Given the description of an element on the screen output the (x, y) to click on. 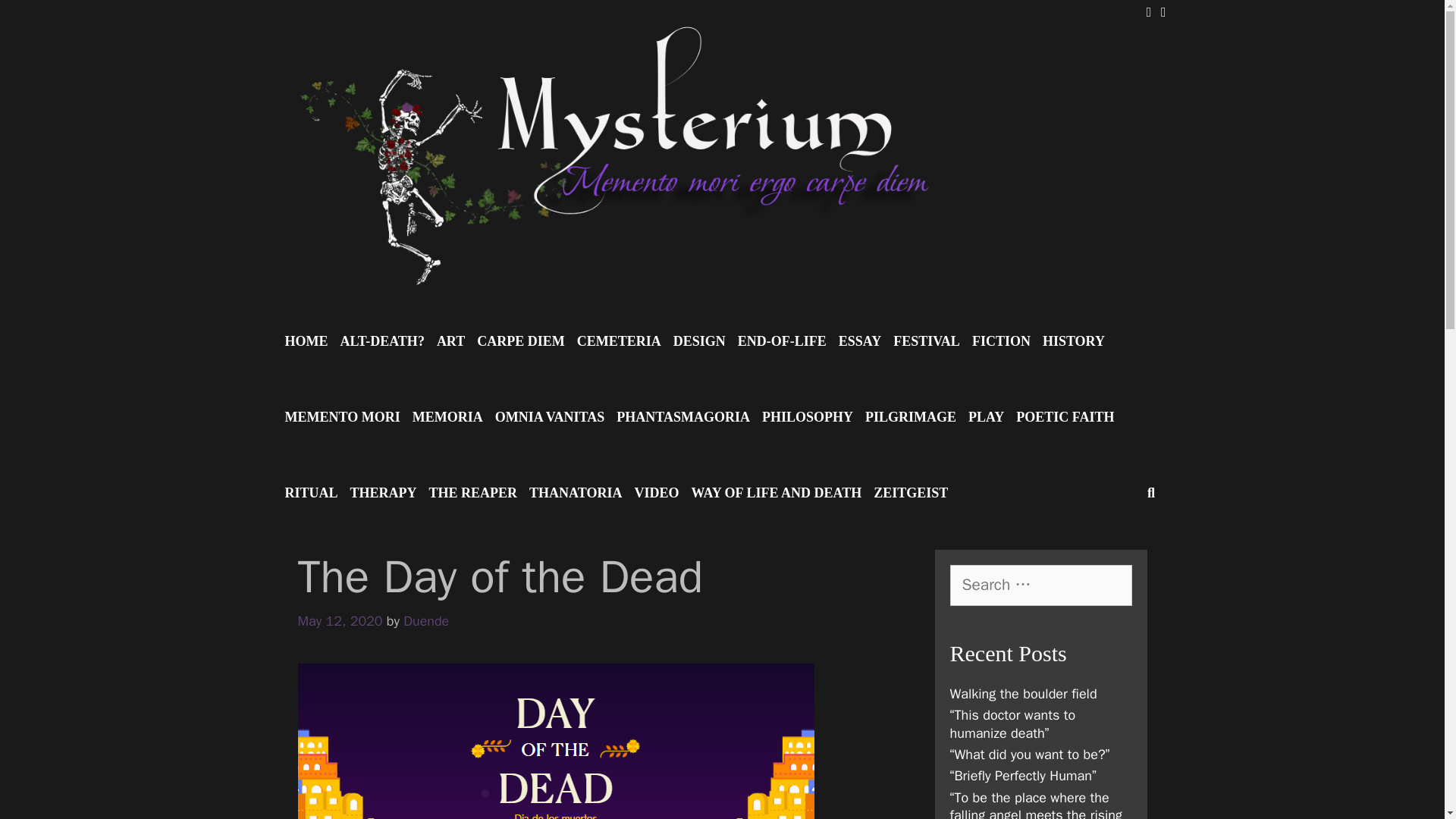
HISTORY (1073, 341)
PILGRIMAGE (910, 417)
6:02 pm (339, 620)
DESIGN (699, 341)
CARPE DIEM (520, 341)
THE REAPER (473, 492)
May 12, 2020 (339, 620)
PLAY (986, 417)
FESTIVAL (926, 341)
WAY OF LIFE AND DEATH (775, 492)
SEARCH (1150, 492)
MEMENTO MORI (342, 417)
END-OF-LIFE (782, 341)
ZEITGEIST (910, 492)
Duende (425, 620)
